Given the description of an element on the screen output the (x, y) to click on. 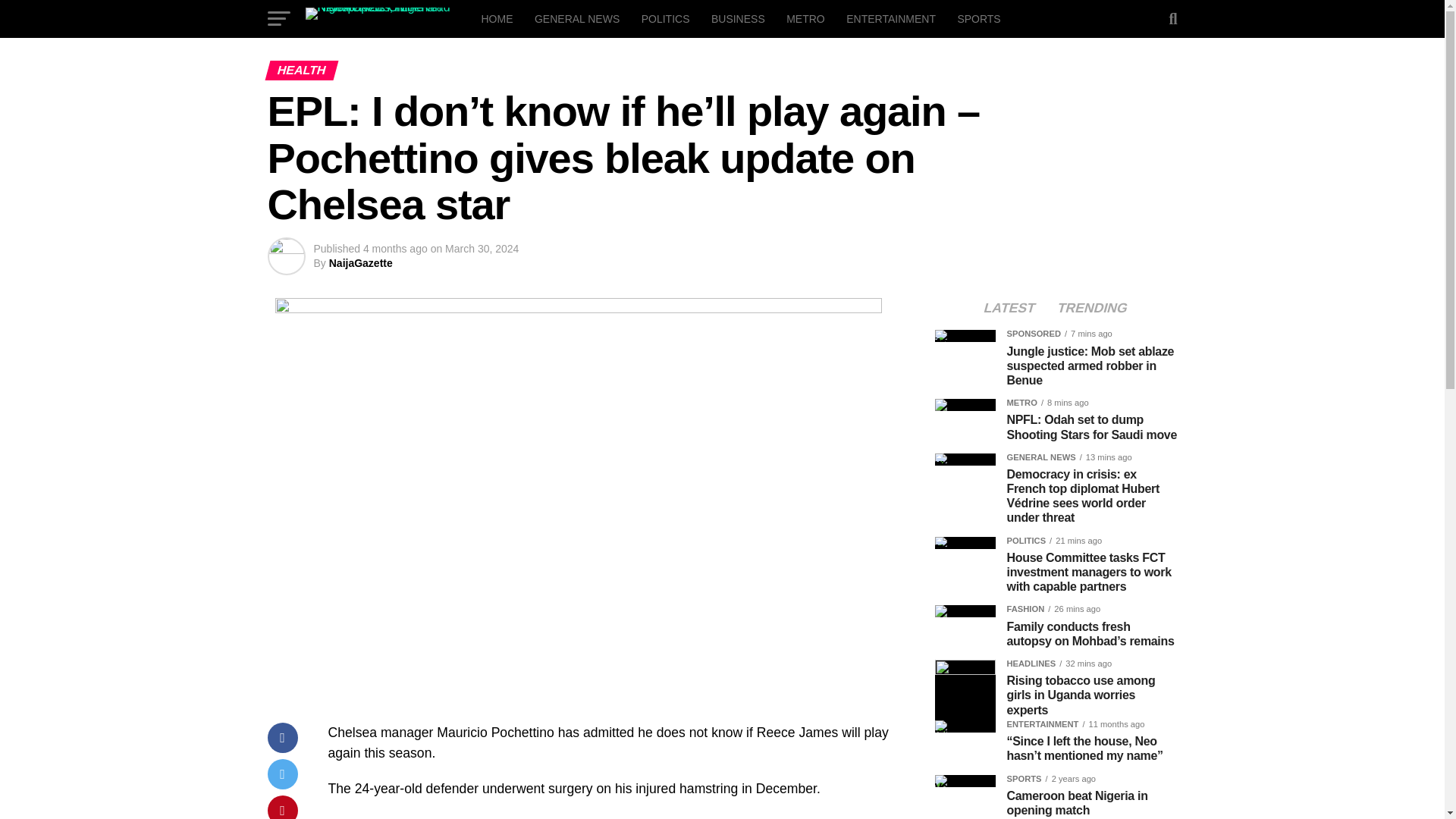
POLITICS (664, 18)
GENERAL NEWS (576, 18)
METRO (805, 18)
SPORTS (978, 18)
BUSINESS (737, 18)
ENTERTAINMENT (890, 18)
HOME (496, 18)
NaijaGazette (361, 263)
Posts by NaijaGazette (361, 263)
